Given the description of an element on the screen output the (x, y) to click on. 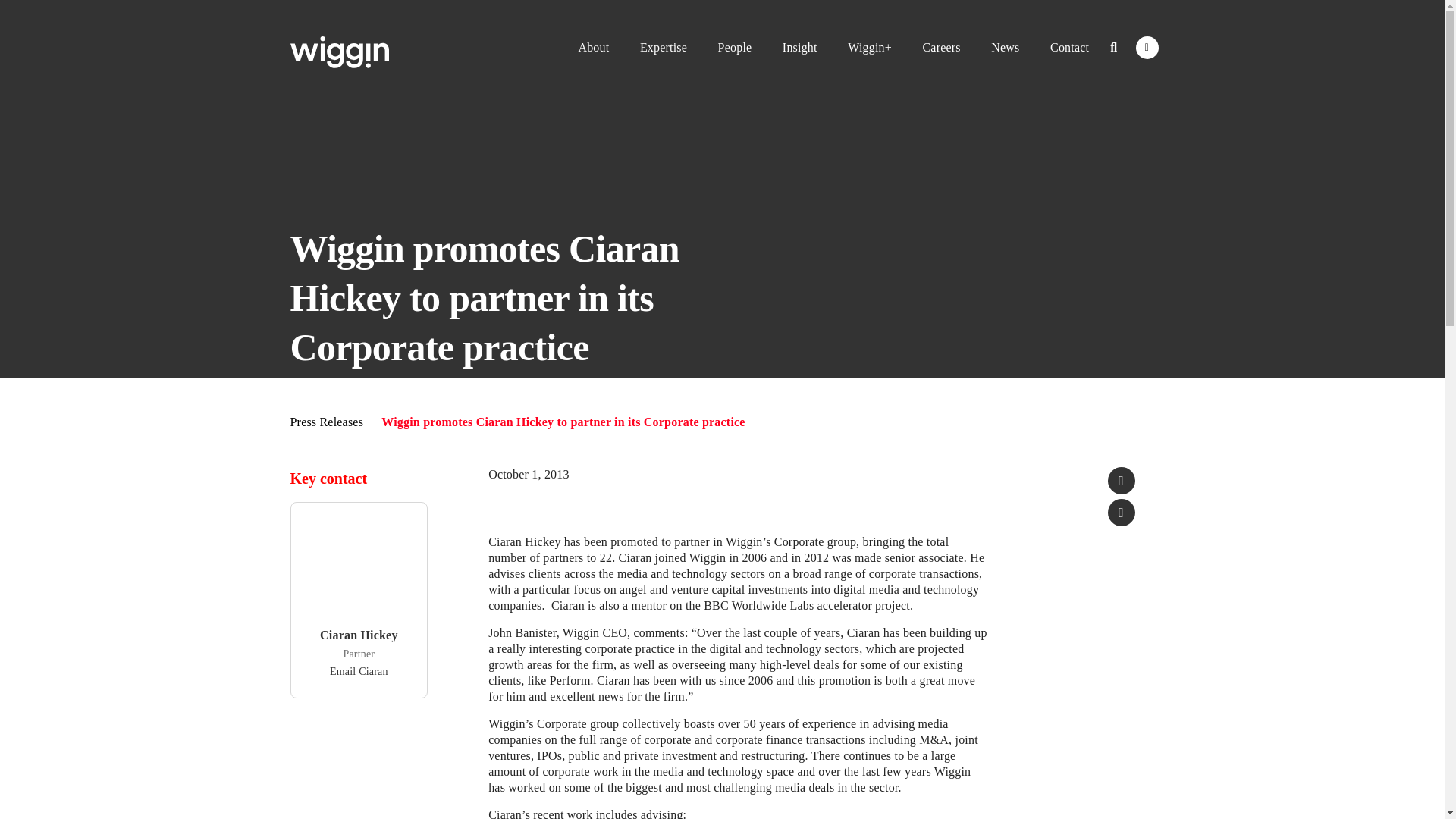
Email address for Ciaran (359, 671)
Insight (799, 47)
About (593, 47)
Careers (941, 47)
Search (1112, 47)
Profile for Ciaran (358, 634)
Wiggin Logo Header (338, 51)
People (734, 47)
